Given the description of an element on the screen output the (x, y) to click on. 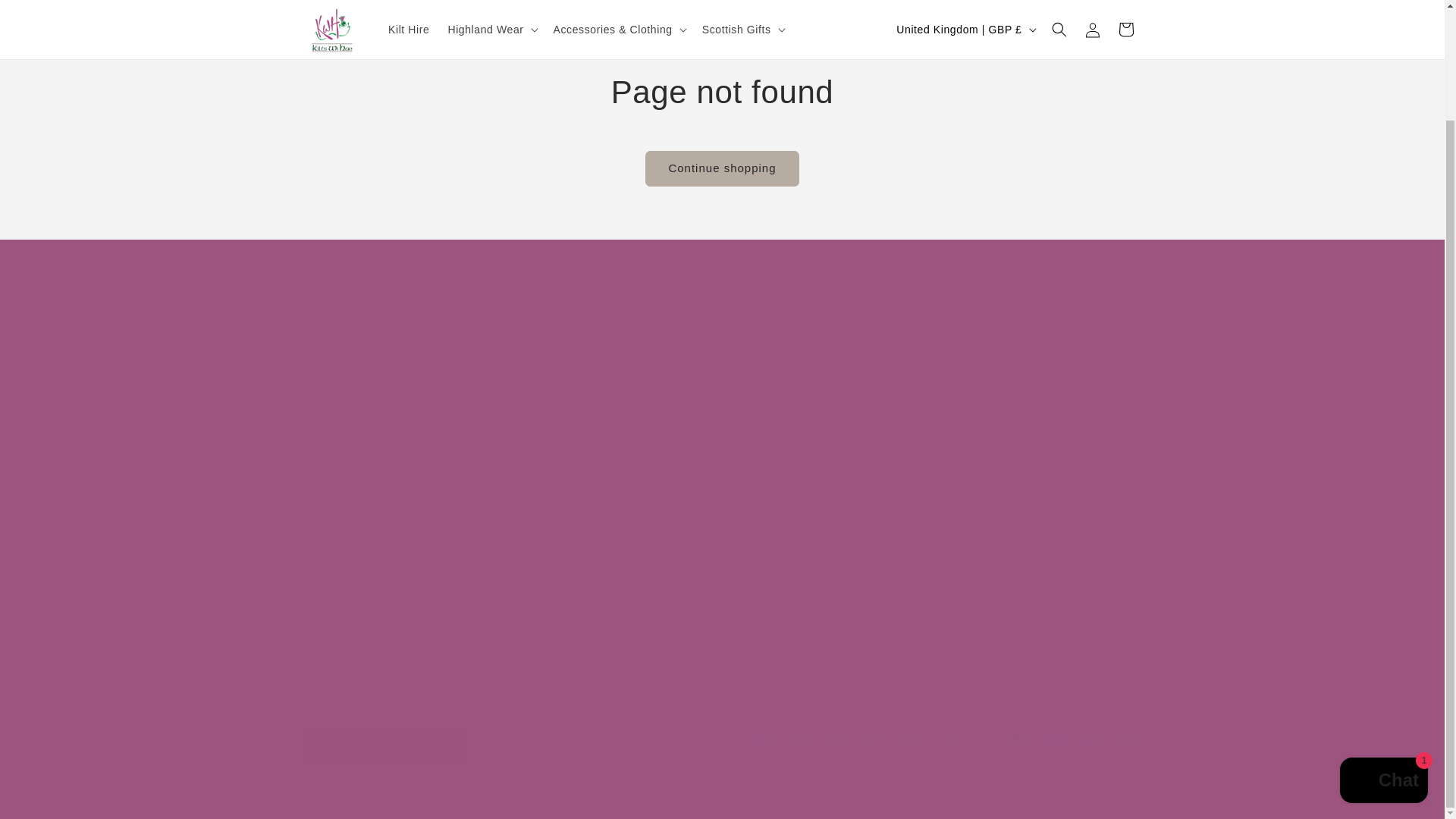
Shopify online store chat (1383, 652)
Call us on 01651 869339 (790, 374)
